Given the description of an element on the screen output the (x, y) to click on. 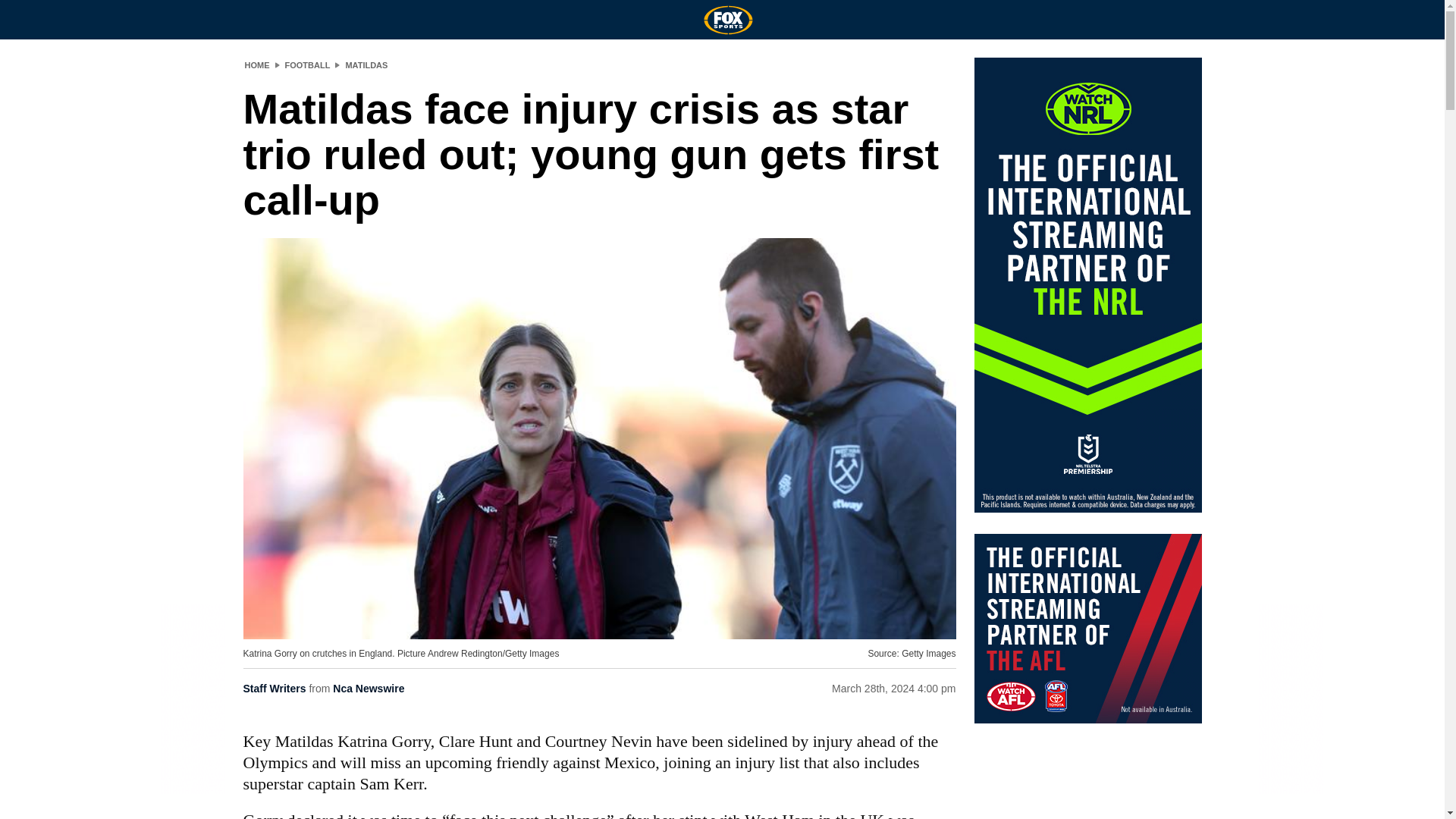
FOOTBALL (307, 64)
HOME (256, 64)
3rd party ad content (1087, 628)
MATILDAS (365, 64)
